Given the description of an element on the screen output the (x, y) to click on. 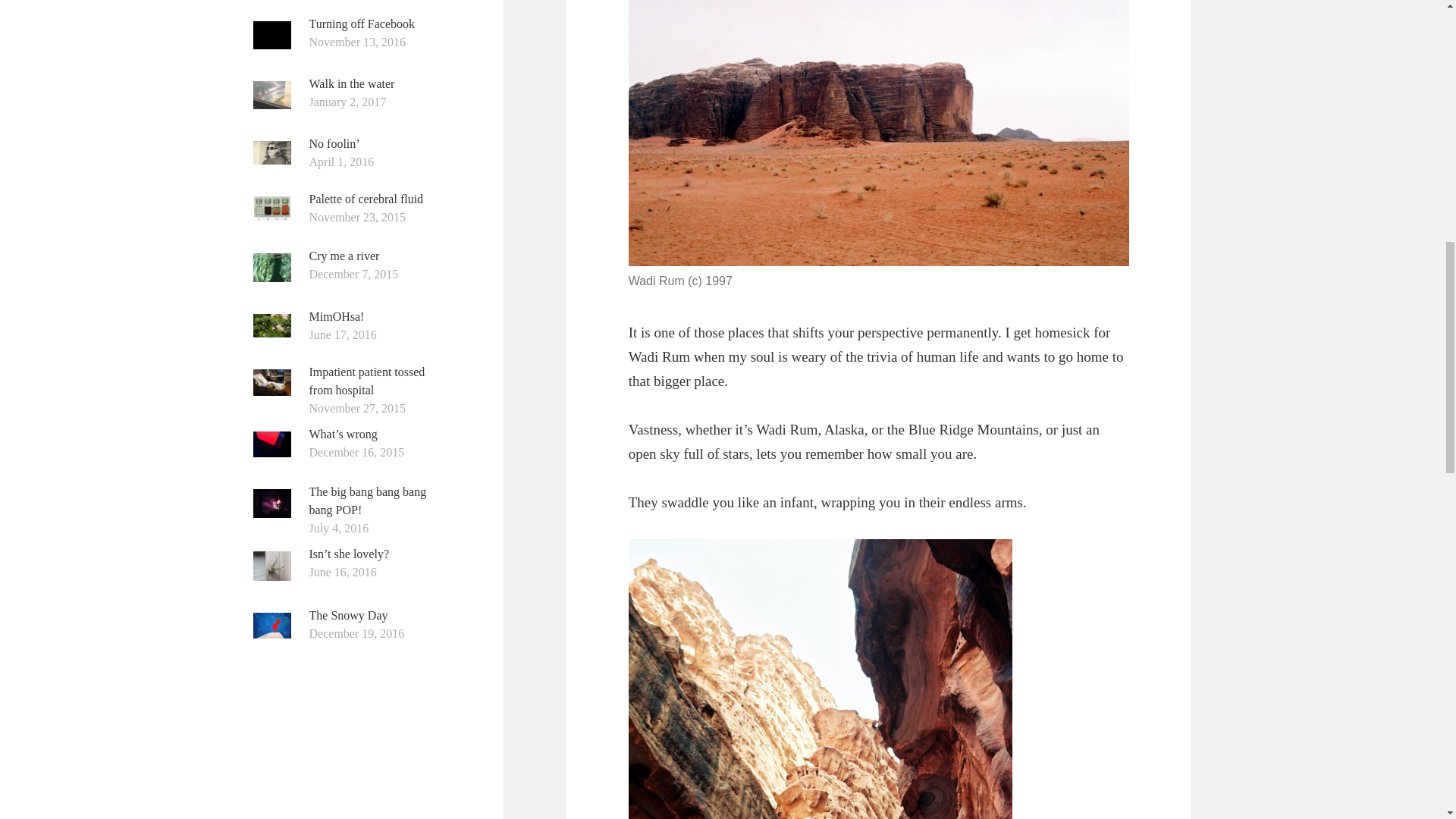
MimOHsa! (336, 316)
Palette of cerebral fluid (365, 198)
Cry me a river (344, 255)
Walk in the water (351, 83)
Turning off Facebook (361, 23)
The big bang bang bang bang POP! (367, 500)
Impatient patient tossed from hospital (366, 380)
